Given the description of an element on the screen output the (x, y) to click on. 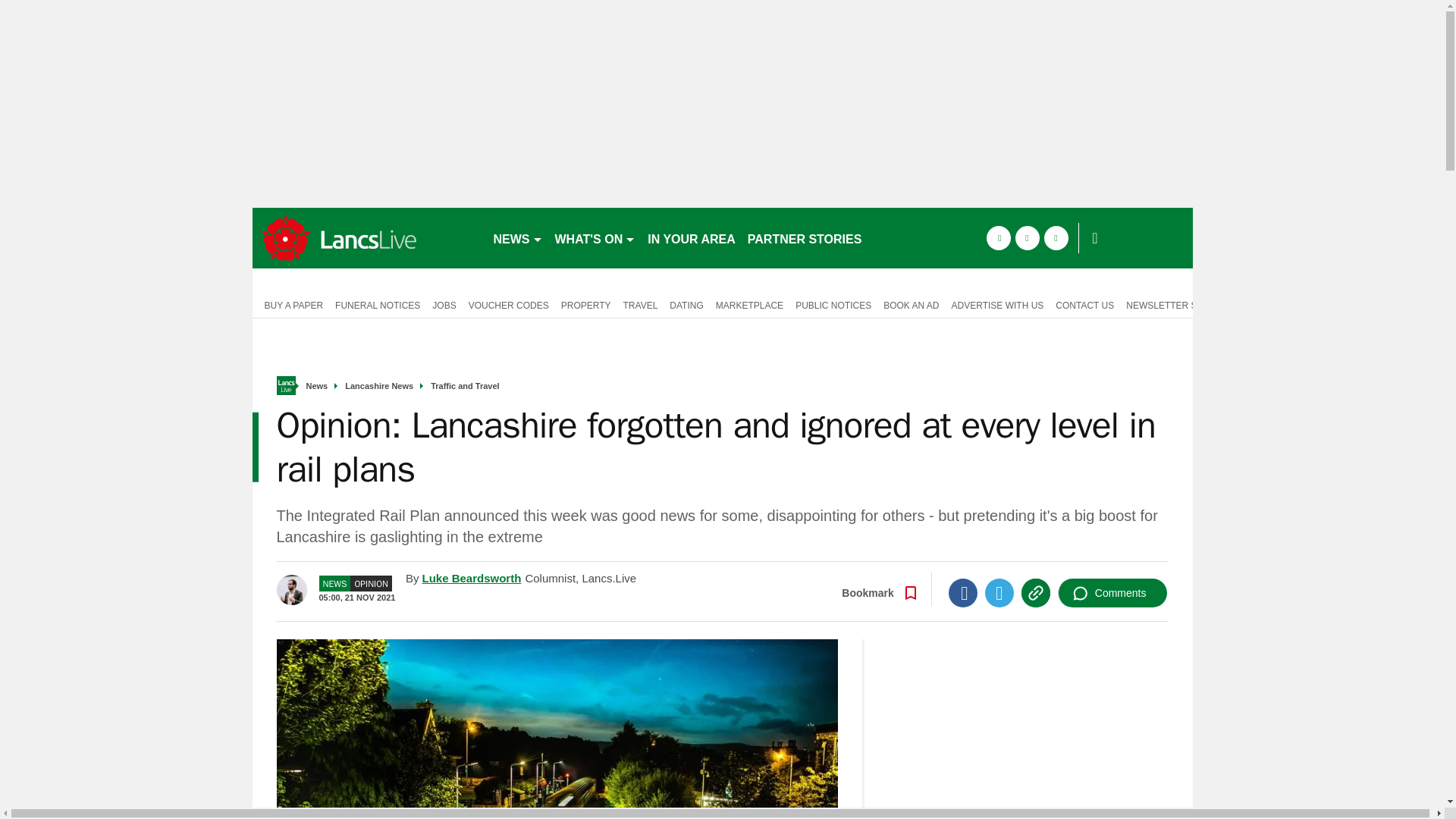
twitter (1026, 238)
NEWS (517, 238)
instagram (1055, 238)
BOOK AN AD (910, 304)
DATING (686, 304)
BUY A PAPER (290, 304)
accrington (365, 238)
Facebook (962, 592)
JOBS (443, 304)
facebook (997, 238)
